Given the description of an element on the screen output the (x, y) to click on. 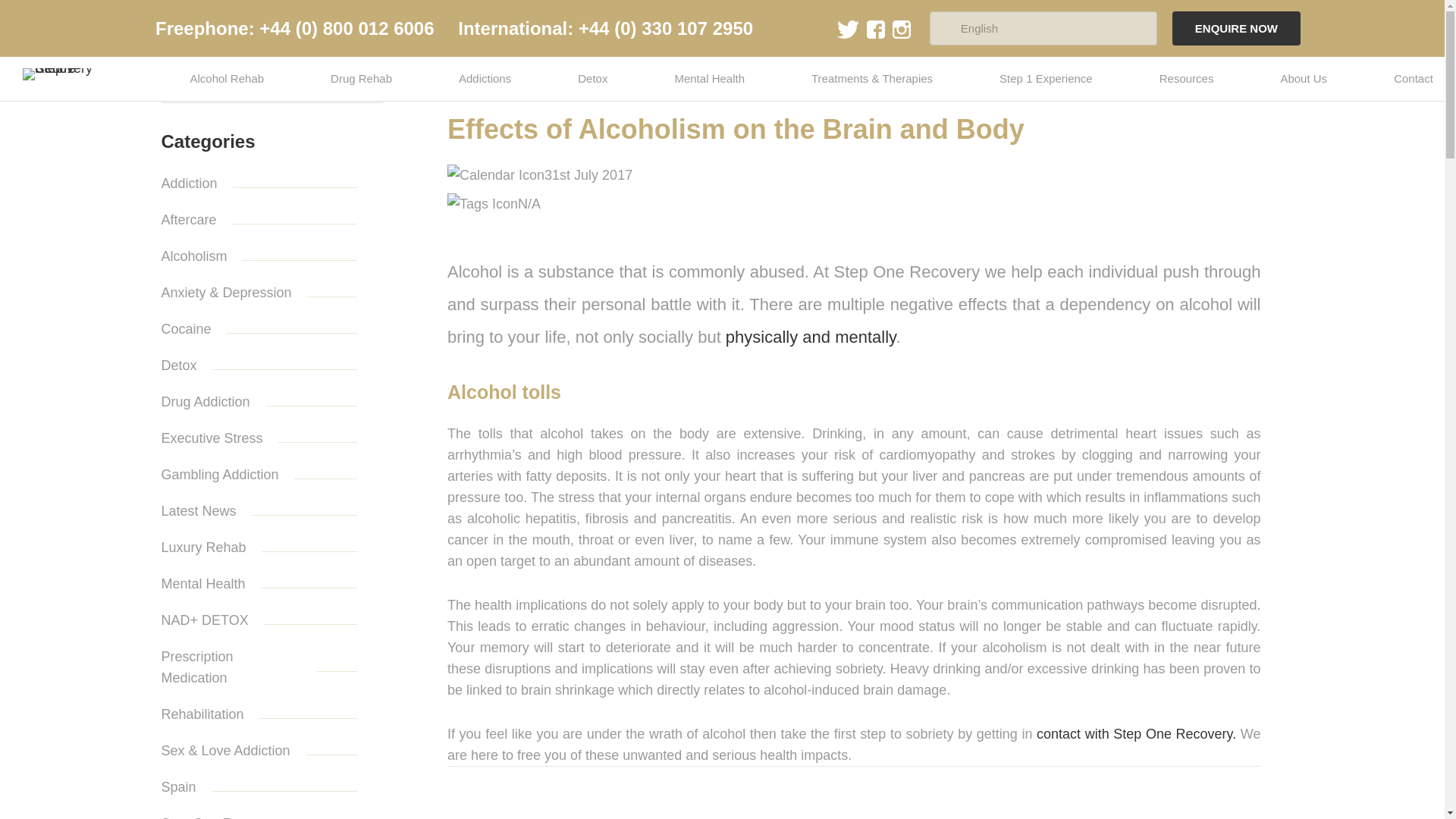
Search... (272, 85)
Alcohol Rehab (226, 78)
Drug Rehab (360, 78)
Addictions (484, 78)
Step 1 Recovery Centre (71, 73)
ENQUIRE NOW (1236, 28)
